Given the description of an element on the screen output the (x, y) to click on. 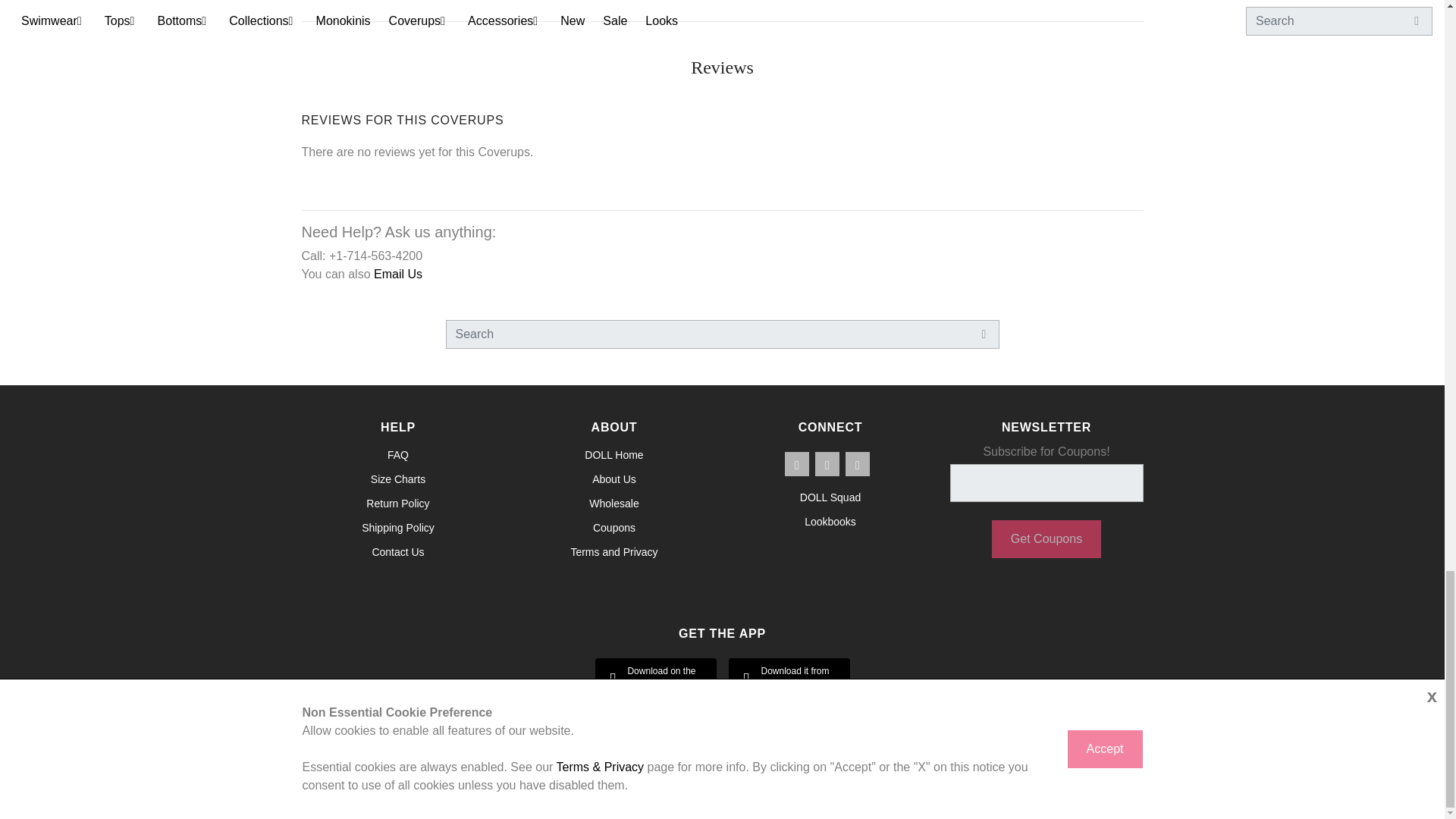
Get Coupons (1045, 538)
